Given the description of an element on the screen output the (x, y) to click on. 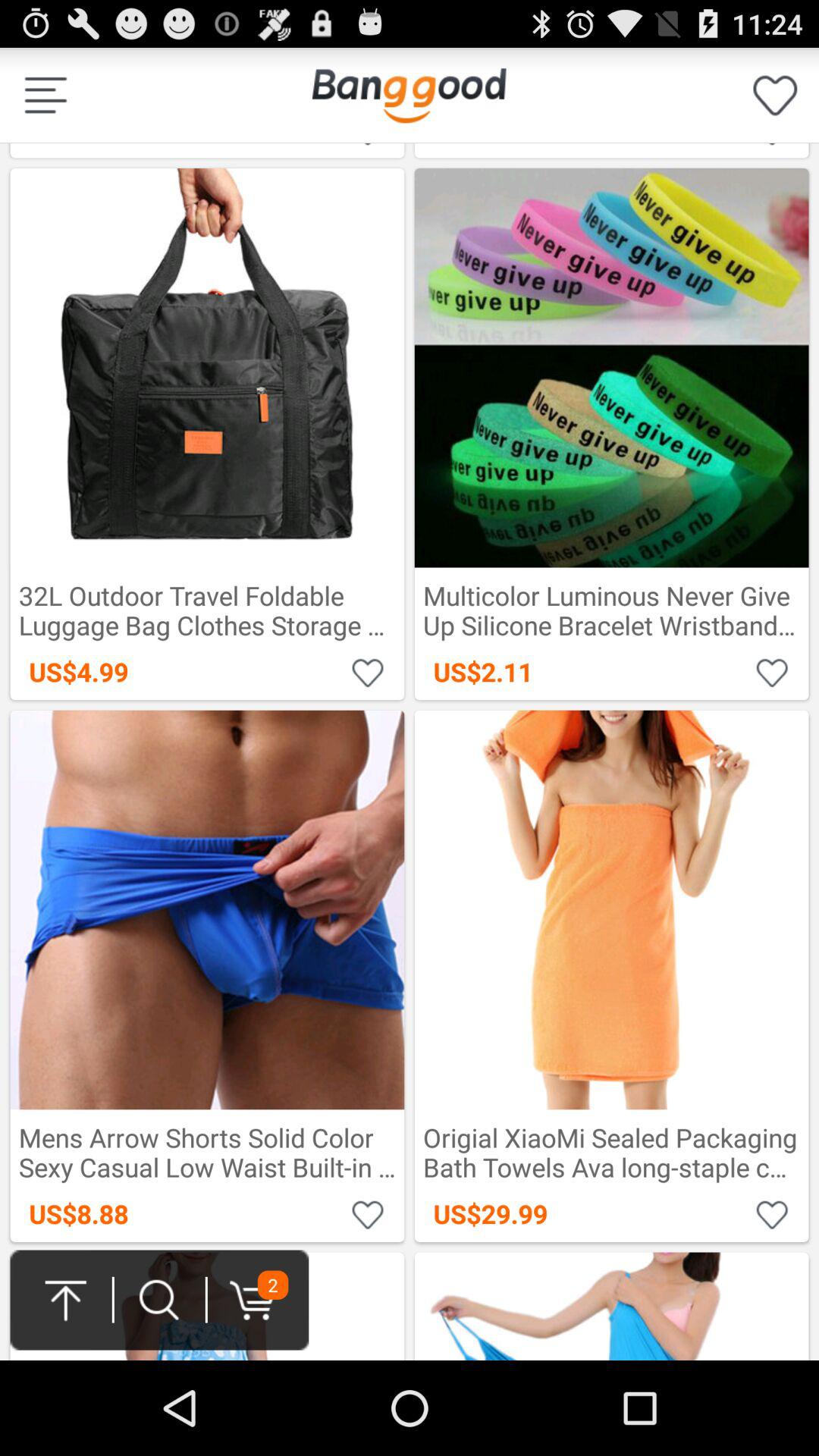
save to favorites (368, 671)
